Given the description of an element on the screen output the (x, y) to click on. 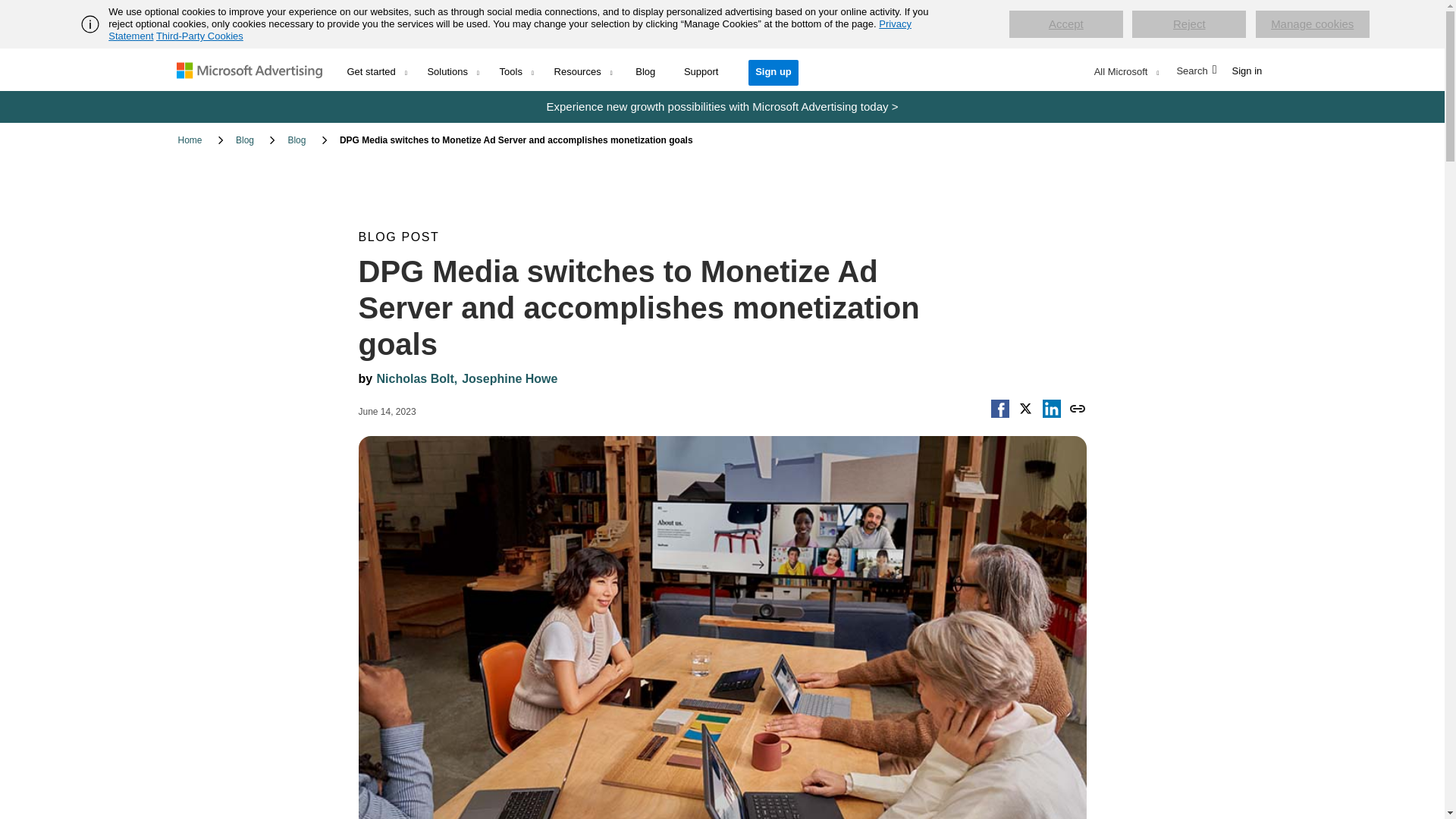
Solutions (453, 68)
Tools (517, 68)
Privacy Statement (509, 29)
Reject (1189, 23)
Microsoft (255, 69)
Third-Party Cookies (199, 35)
Accept (1065, 23)
Manage cookies (1312, 23)
Get started (377, 68)
